Given the description of an element on the screen output the (x, y) to click on. 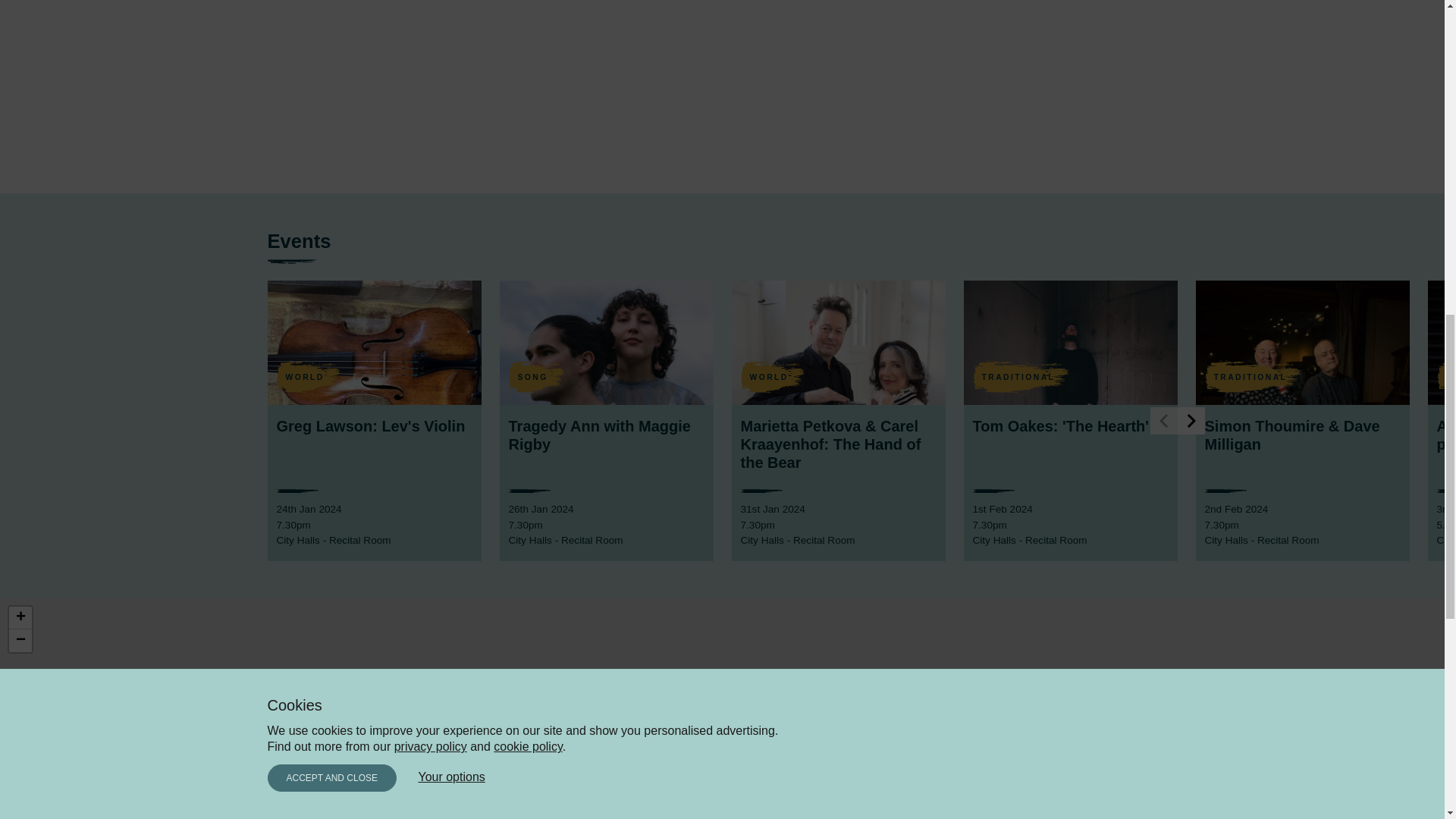
Zoom in (20, 617)
Zoom out (20, 640)
